Given the description of an element on the screen output the (x, y) to click on. 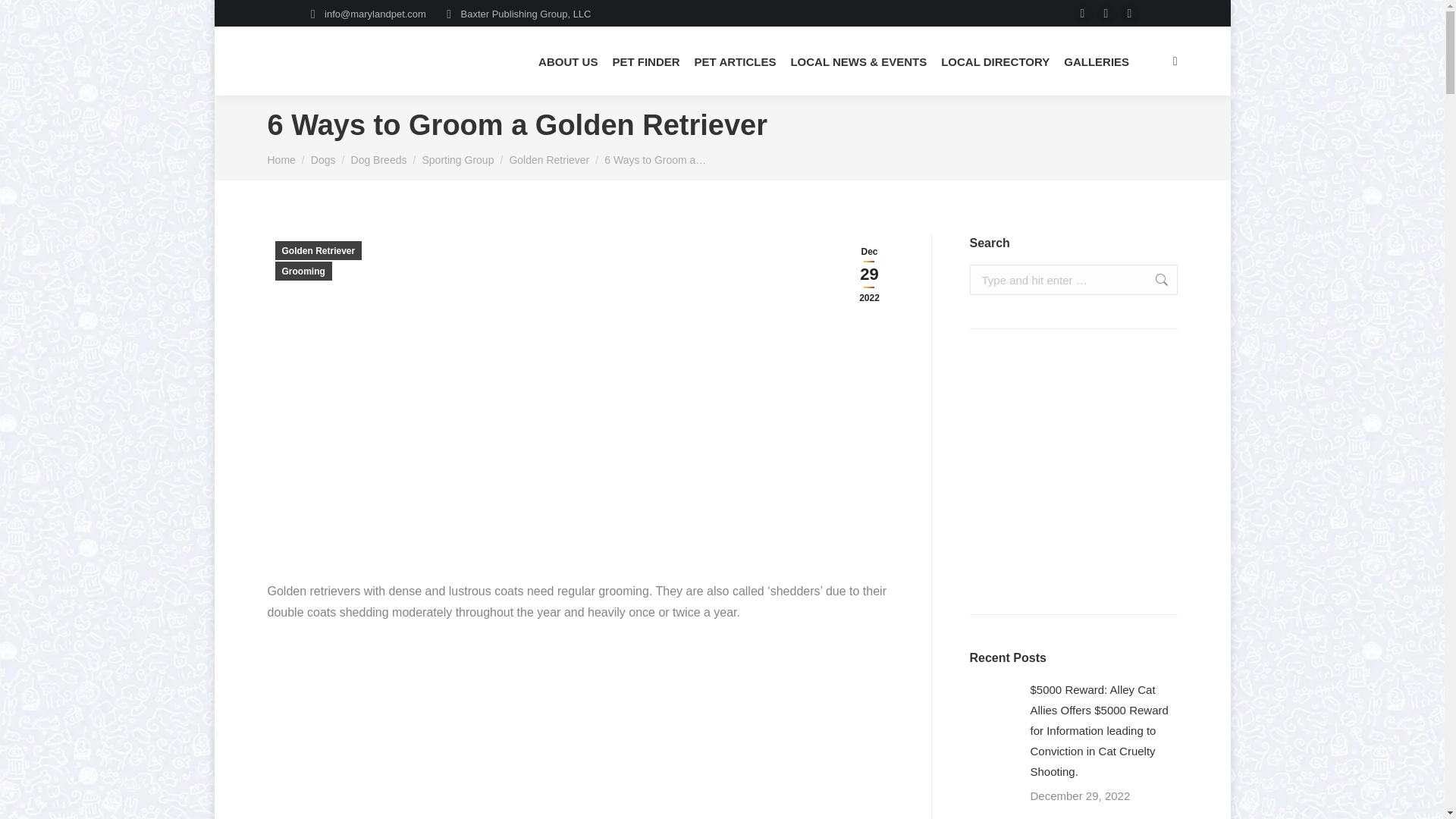
X page opens in new window (1106, 13)
PET ARTICLES (734, 61)
Pinterest page opens in new window (1129, 13)
Go! (1153, 279)
Dogs (323, 159)
Facebook page opens in new window (1083, 13)
Sporting Group (457, 159)
X page opens in new window (1106, 13)
Home (280, 159)
ABOUT US (567, 61)
Go! (1153, 279)
Golden Retriever (548, 159)
Facebook page opens in new window (1083, 13)
Pinterest page opens in new window (1129, 13)
